Given the description of an element on the screen output the (x, y) to click on. 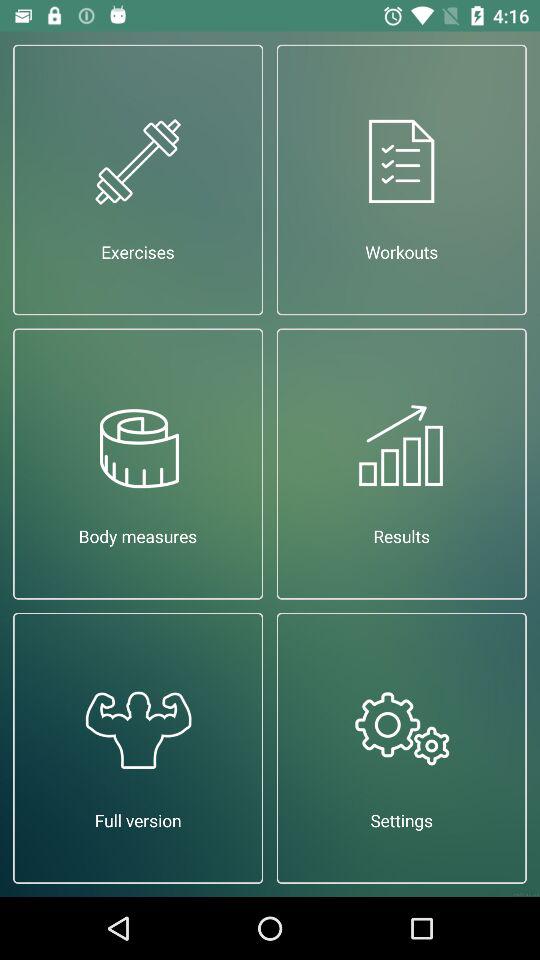
open the settings (401, 748)
